Given the description of an element on the screen output the (x, y) to click on. 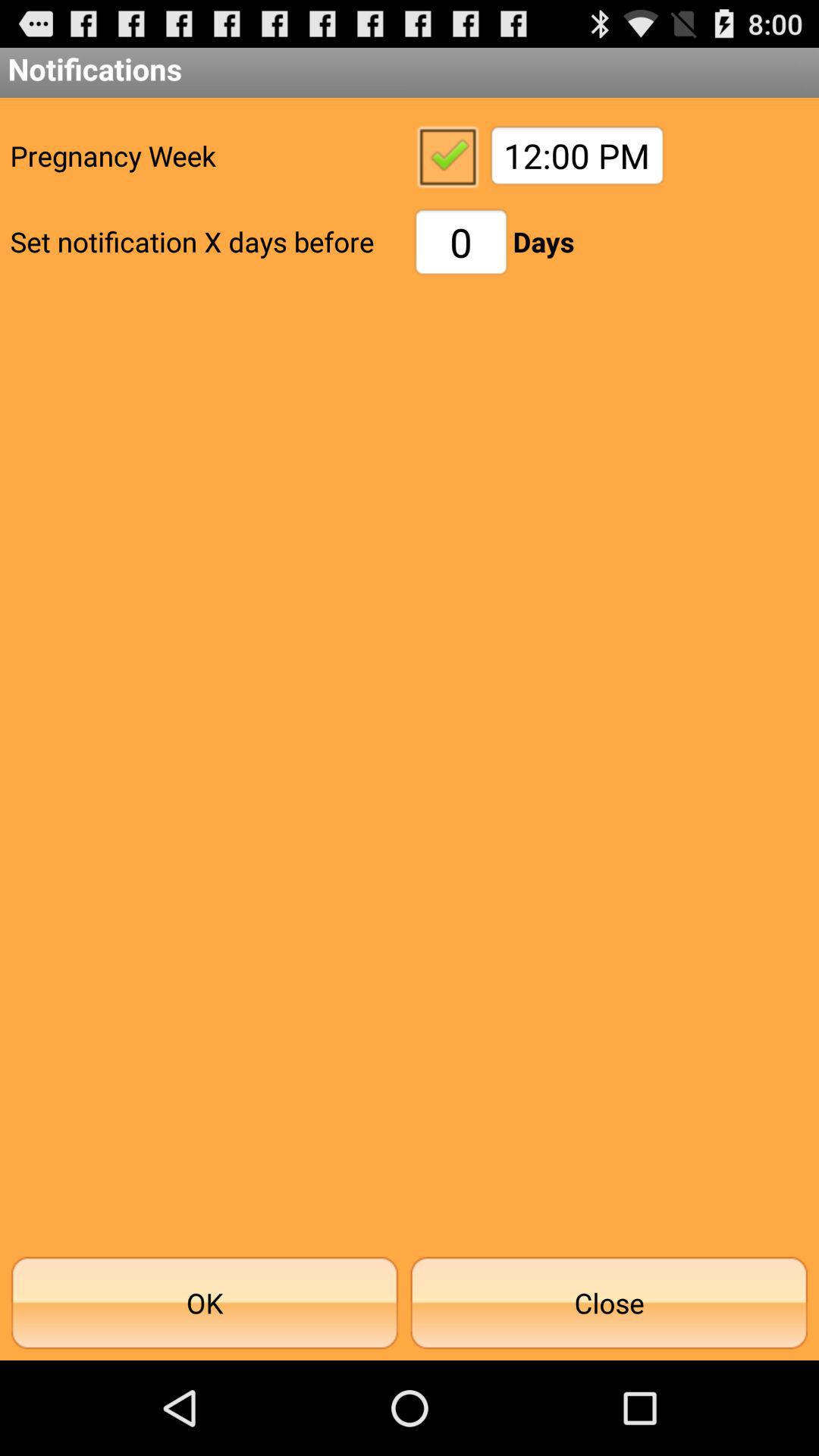
click the item at the bottom left corner (204, 1302)
